Given the description of an element on the screen output the (x, y) to click on. 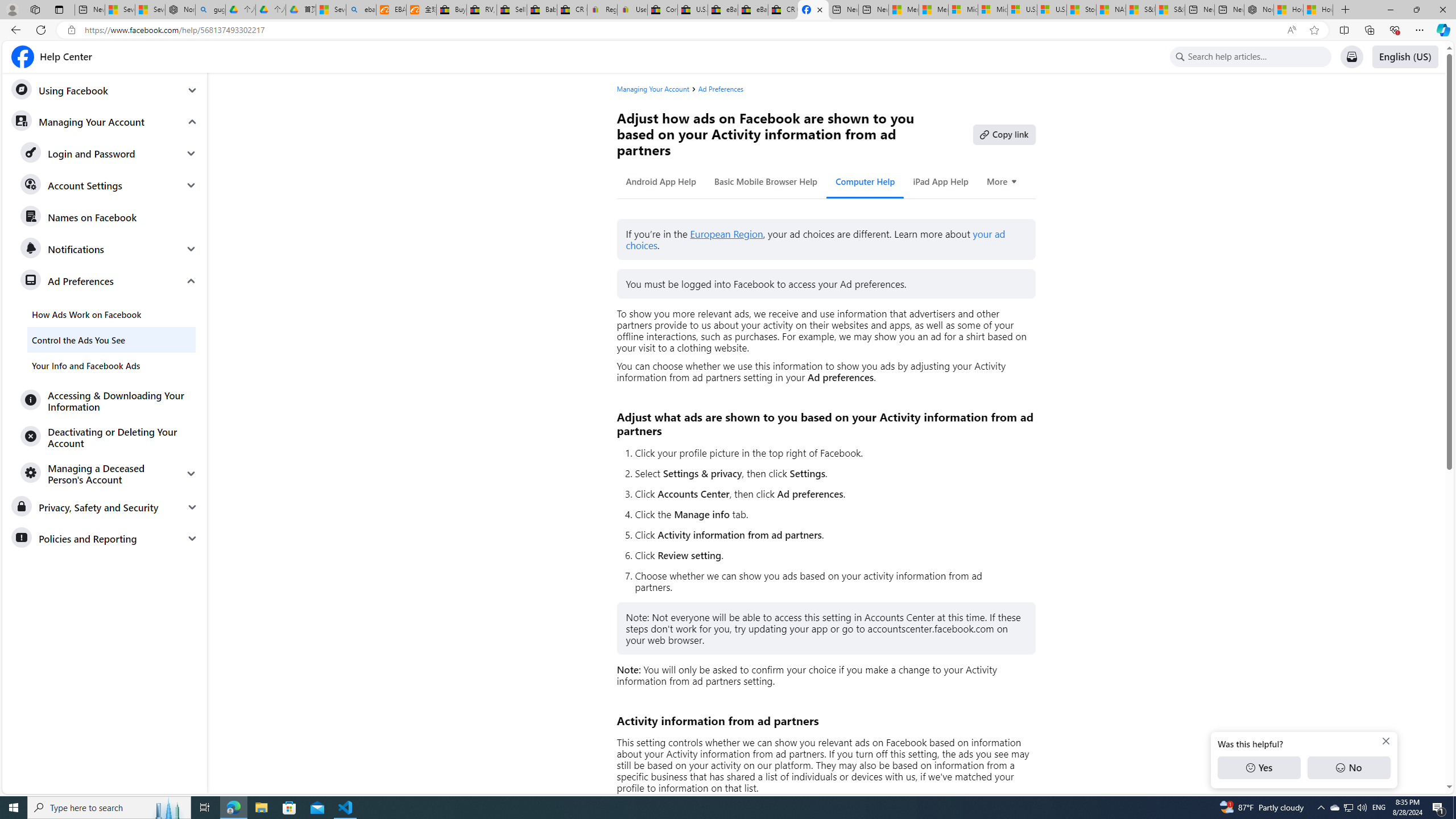
Login and Password Expand (109, 153)
Buy Auto Parts & Accessories | eBay (450, 9)
Ad Preferences (720, 89)
Sell worldwide with eBay (511, 9)
Computer Help (865, 181)
Deactivating or Deleting Your Account (109, 436)
Managing a Deceased Person's Account Expand (109, 473)
How to Use a Monitor With Your Closed Laptop (1318, 9)
ebay - Search (360, 9)
Account Settings Expand (109, 185)
Notifications (108, 249)
Account Settings (108, 185)
your ad choices (816, 239)
